Given the description of an element on the screen output the (x, y) to click on. 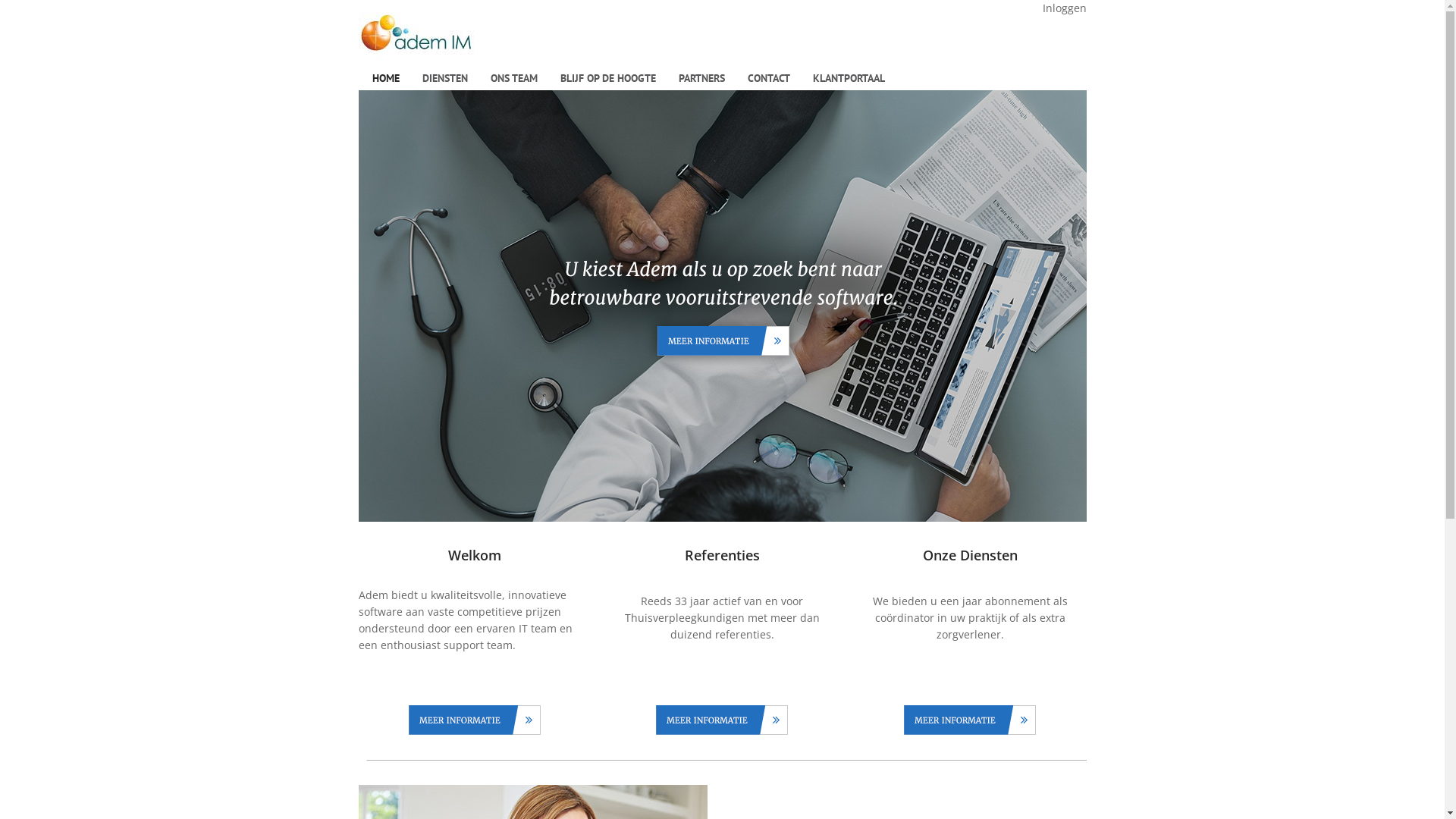
Inloggen Element type: text (1063, 8)
KLANTPORTAAL Element type: text (847, 77)
ONS TEAM Element type: text (514, 77)
CONTACT Element type: text (767, 77)
BLIJF OP DE HOOGTE Element type: text (608, 77)
HOME Element type: text (385, 77)
PARTNERS Element type: text (701, 77)
DIENSTEN Element type: text (445, 77)
